Given the description of an element on the screen output the (x, y) to click on. 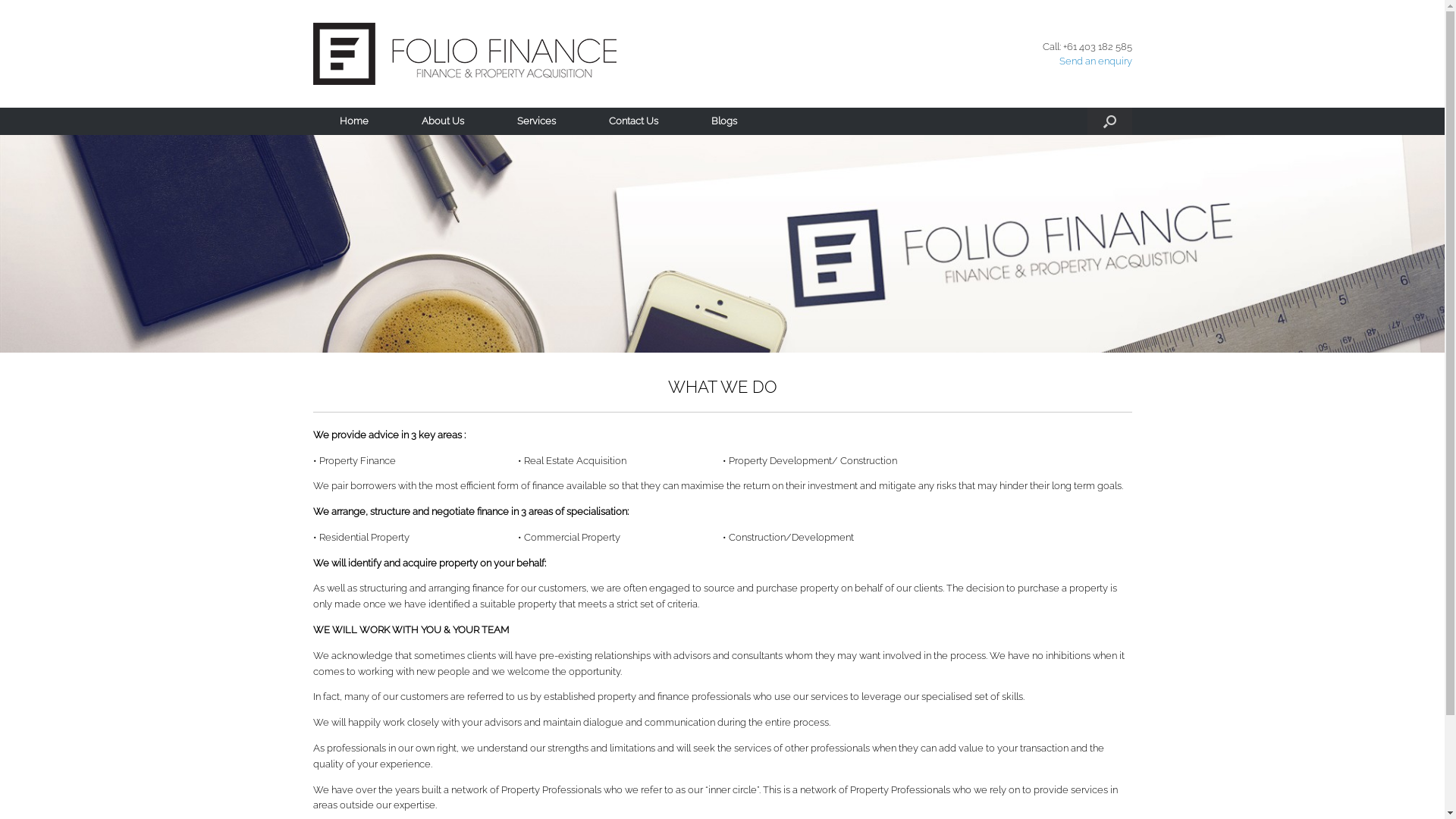
Contact Us Element type: text (633, 120)
Services Element type: text (535, 120)
Home Element type: text (353, 120)
Send an enquiry Element type: text (1094, 60)
Blogs Element type: text (723, 120)
Folio Finance Element type: hover (463, 53)
About Us Element type: text (441, 120)
